Given the description of an element on the screen output the (x, y) to click on. 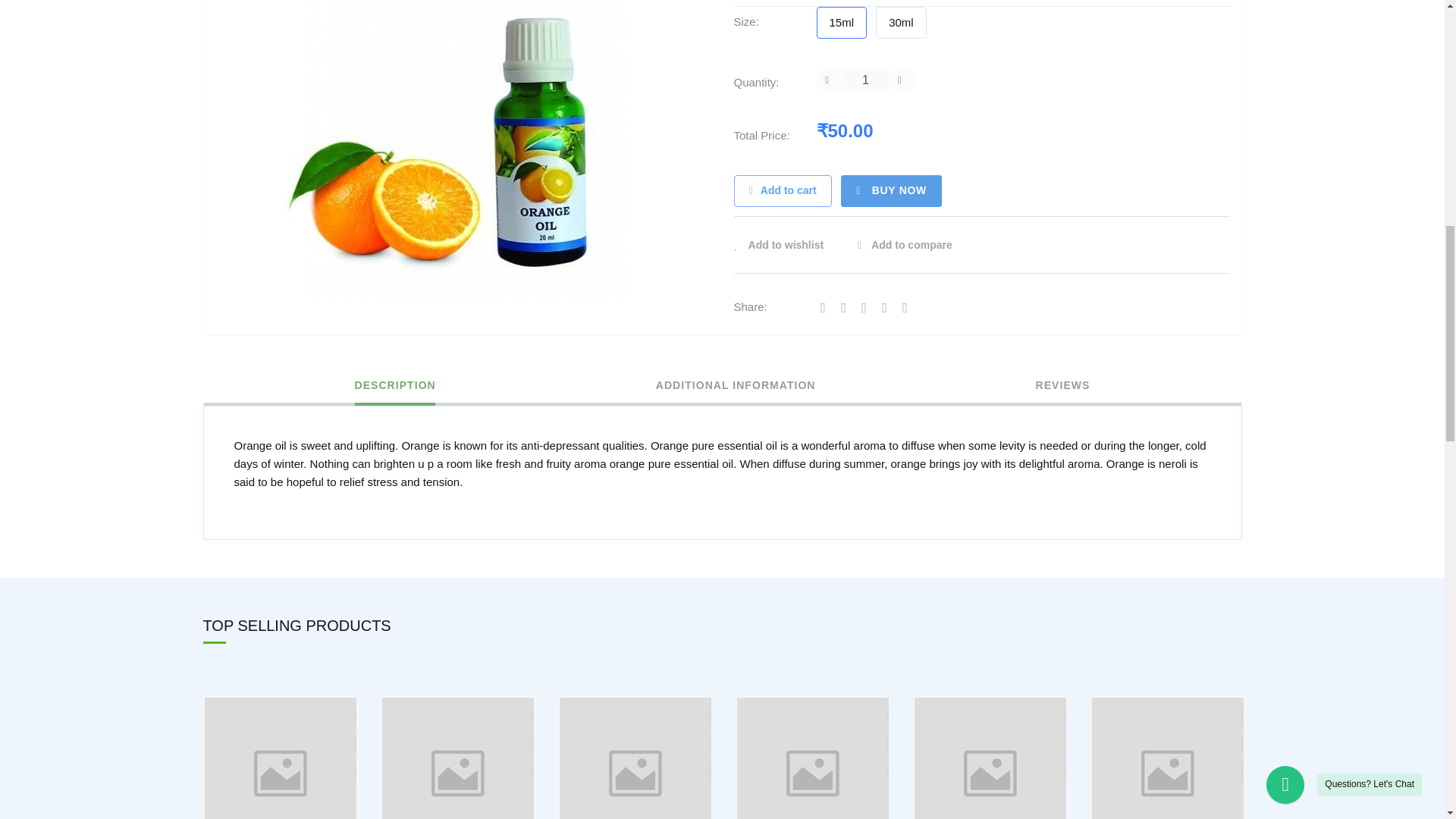
BUY NOW (891, 191)
ADDITIONAL INFORMATION (735, 391)
Add to wishlist (786, 245)
REVIEWS (1062, 391)
DESCRIPTION (395, 391)
Add to cart (782, 191)
Add to compare (903, 245)
1 (865, 79)
